Given the description of an element on the screen output the (x, y) to click on. 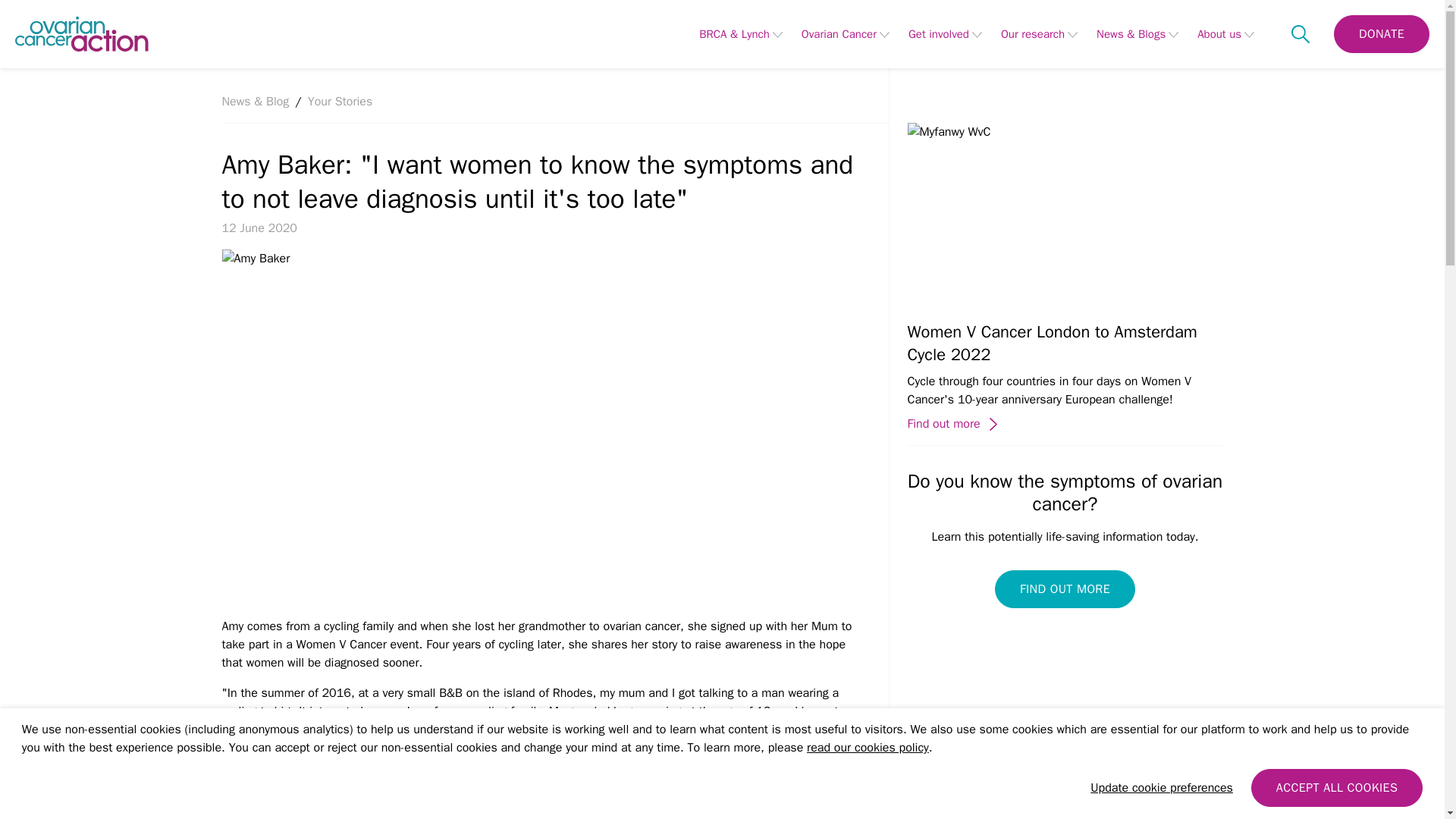
ACCEPT ALL COOKIES (1336, 787)
Ovarian Cancer (839, 33)
Get involved (938, 33)
read our cookies policy (867, 747)
Our research (1032, 33)
Update cookie preferences (1161, 787)
